Given the description of an element on the screen output the (x, y) to click on. 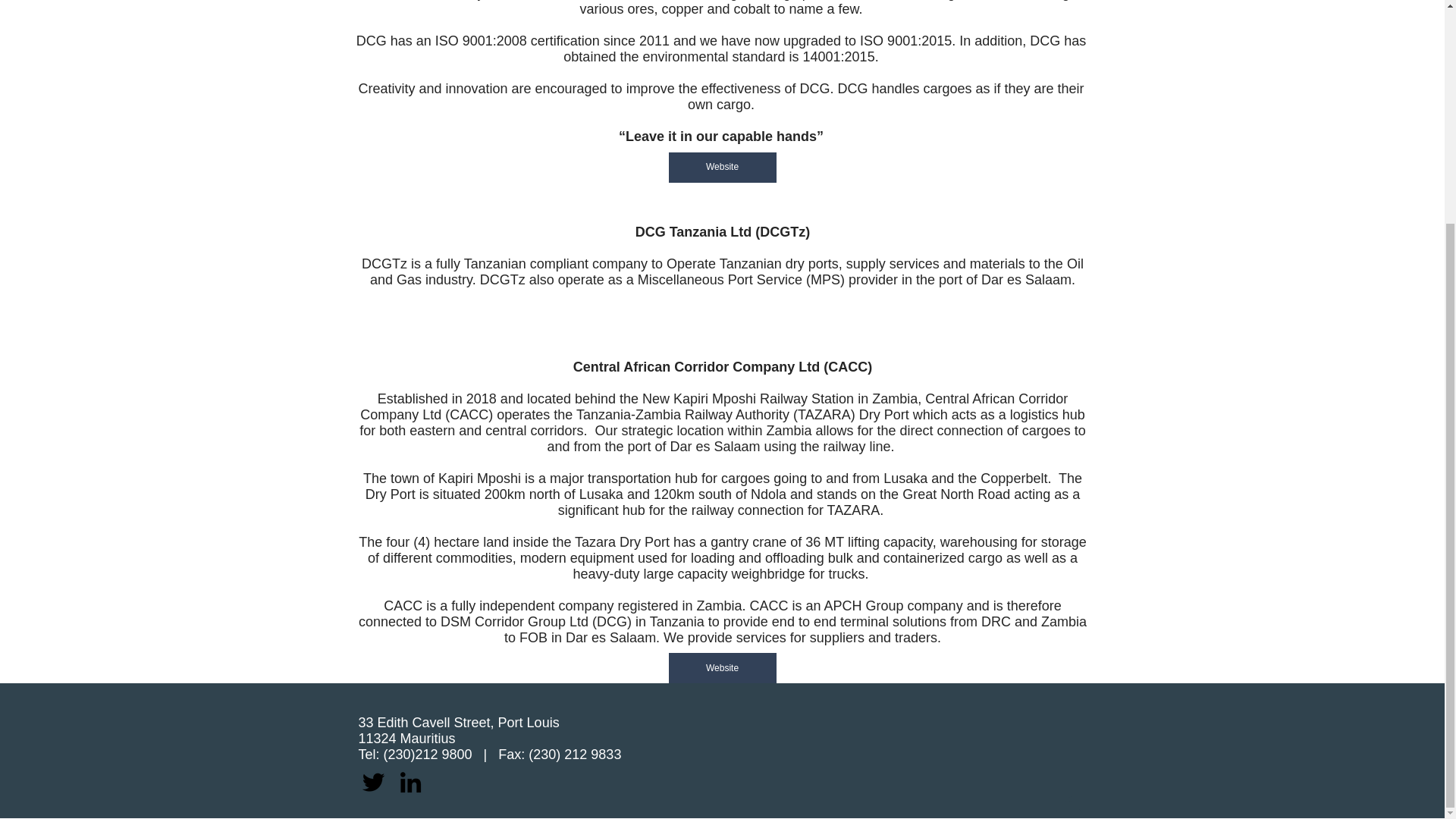
Website (722, 166)
Website (722, 667)
